Given the description of an element on the screen output the (x, y) to click on. 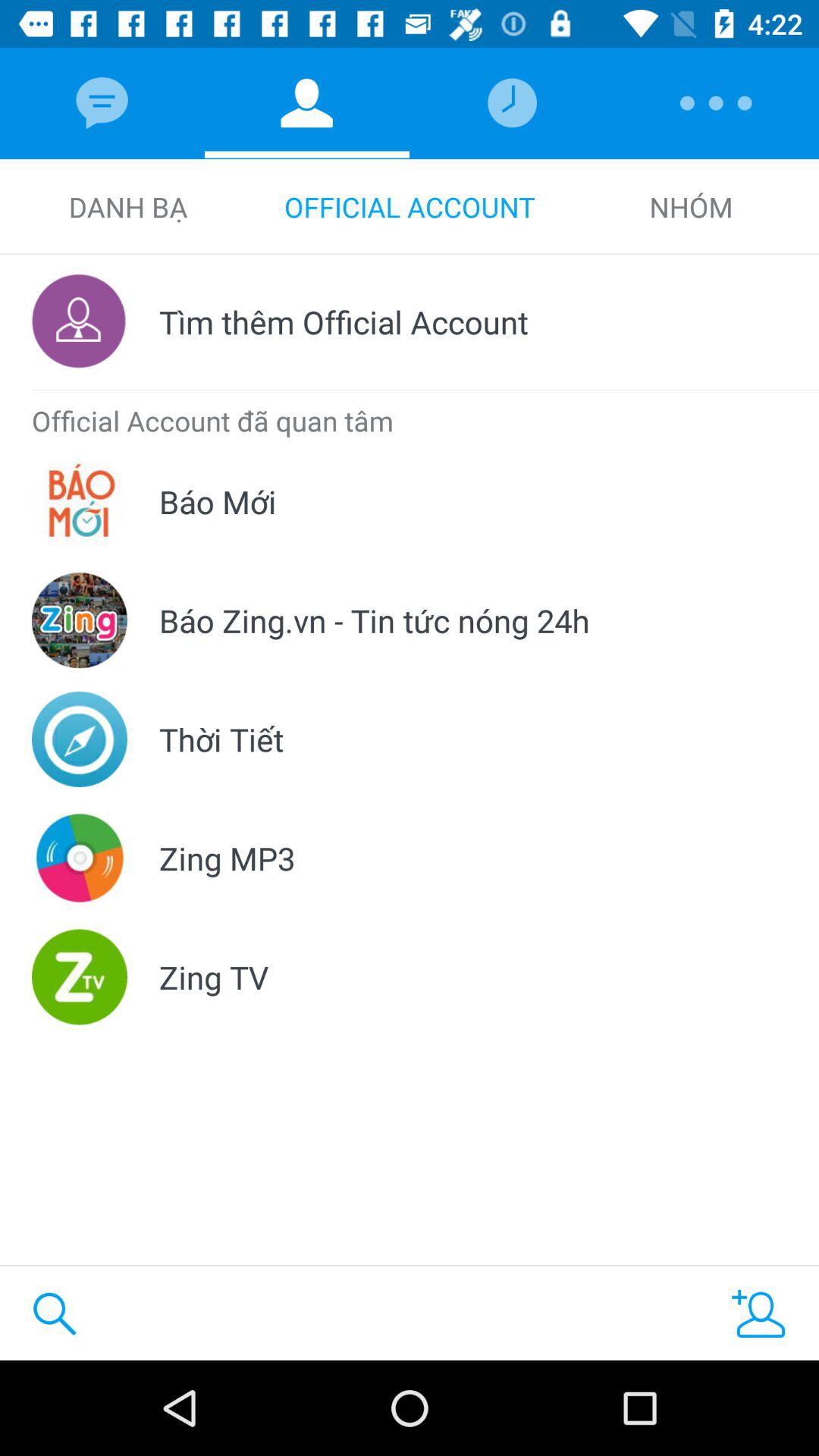
open item above the zing tv (227, 857)
